Given the description of an element on the screen output the (x, y) to click on. 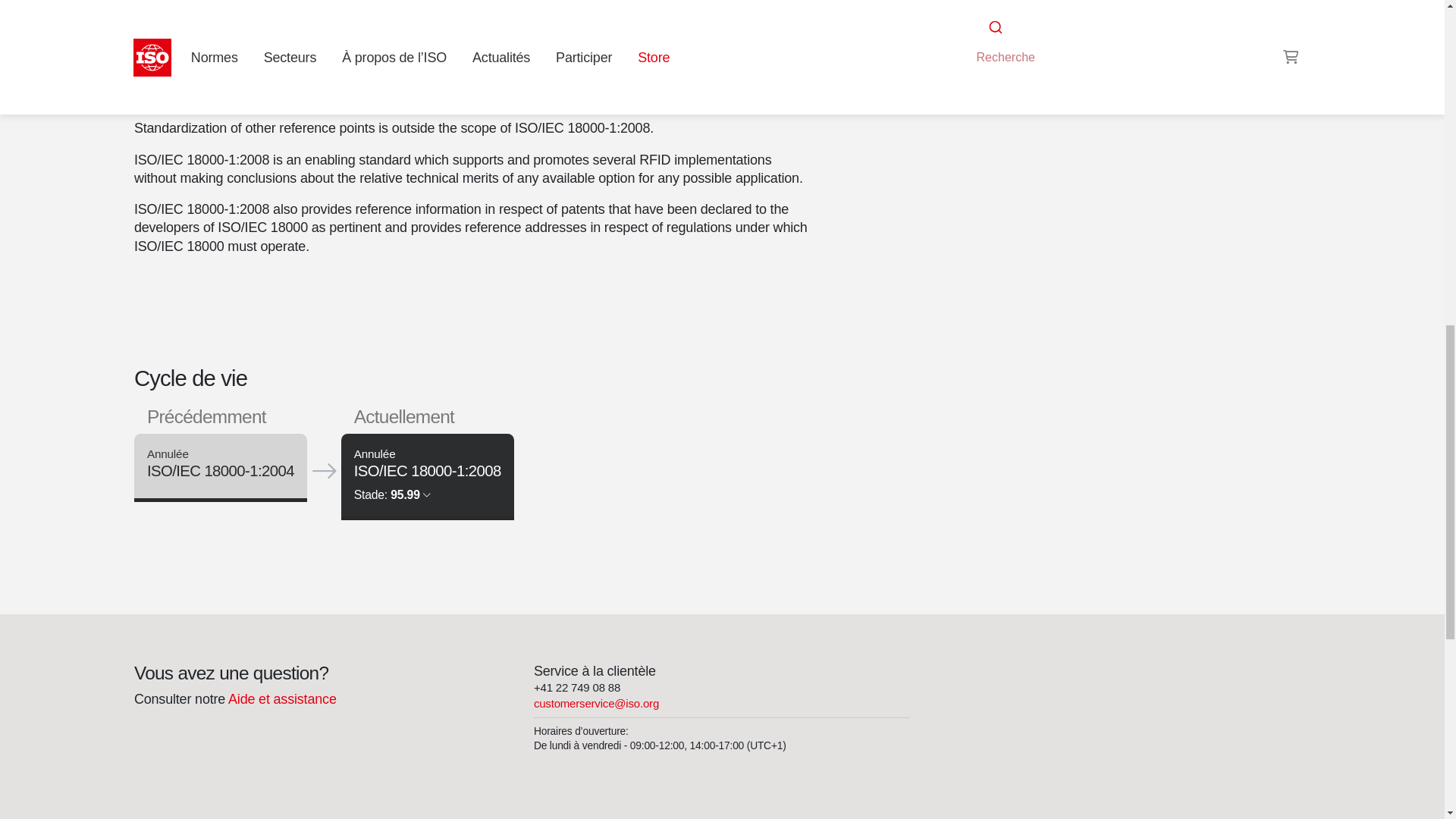
Stade: 95.99 (391, 494)
help-support (281, 698)
RSS (956, 19)
